Given the description of an element on the screen output the (x, y) to click on. 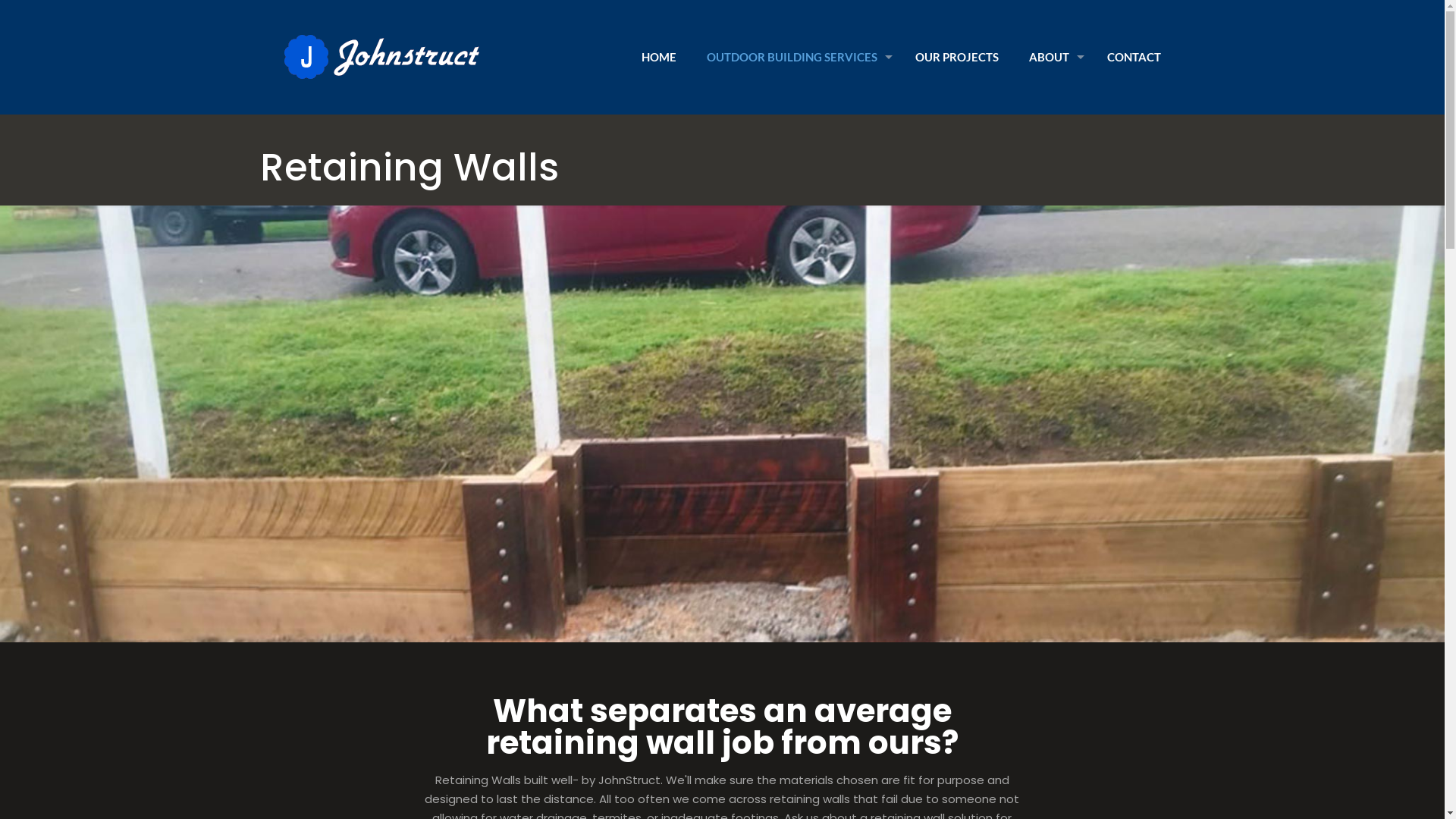
CONTACT Element type: text (1134, 56)
OUTDOOR BUILDING SERVICES Element type: text (795, 56)
OUR PROJECTS Element type: text (956, 56)
HOME Element type: text (658, 56)
JohnStruct Element type: hover (380, 56)
ABOUT Element type: text (1052, 56)
